Given the description of an element on the screen output the (x, y) to click on. 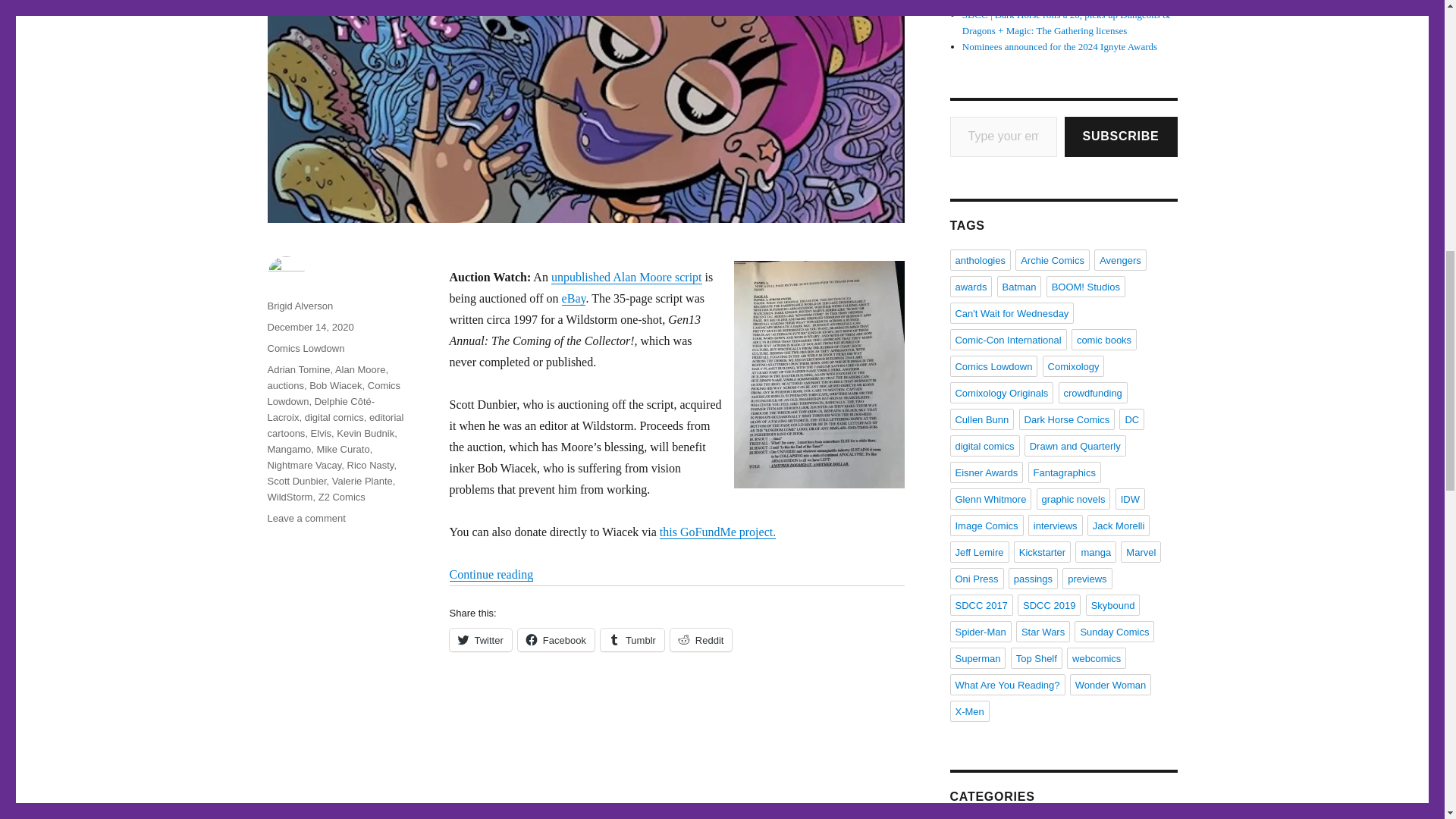
Reddit (700, 639)
Kevin Budnik (365, 432)
Elvis (321, 432)
Valerie Plante (362, 480)
WildStorm (289, 496)
Alan Moore (359, 369)
this GoFundMe project. (717, 531)
Rico Nasty (370, 464)
Comics Lowdown (304, 348)
auctions (284, 385)
Comics Lowdown (333, 393)
Z2 Comics (341, 496)
digital comics (334, 417)
Mangamo (288, 449)
Mike Curato (343, 449)
